Given the description of an element on the screen output the (x, y) to click on. 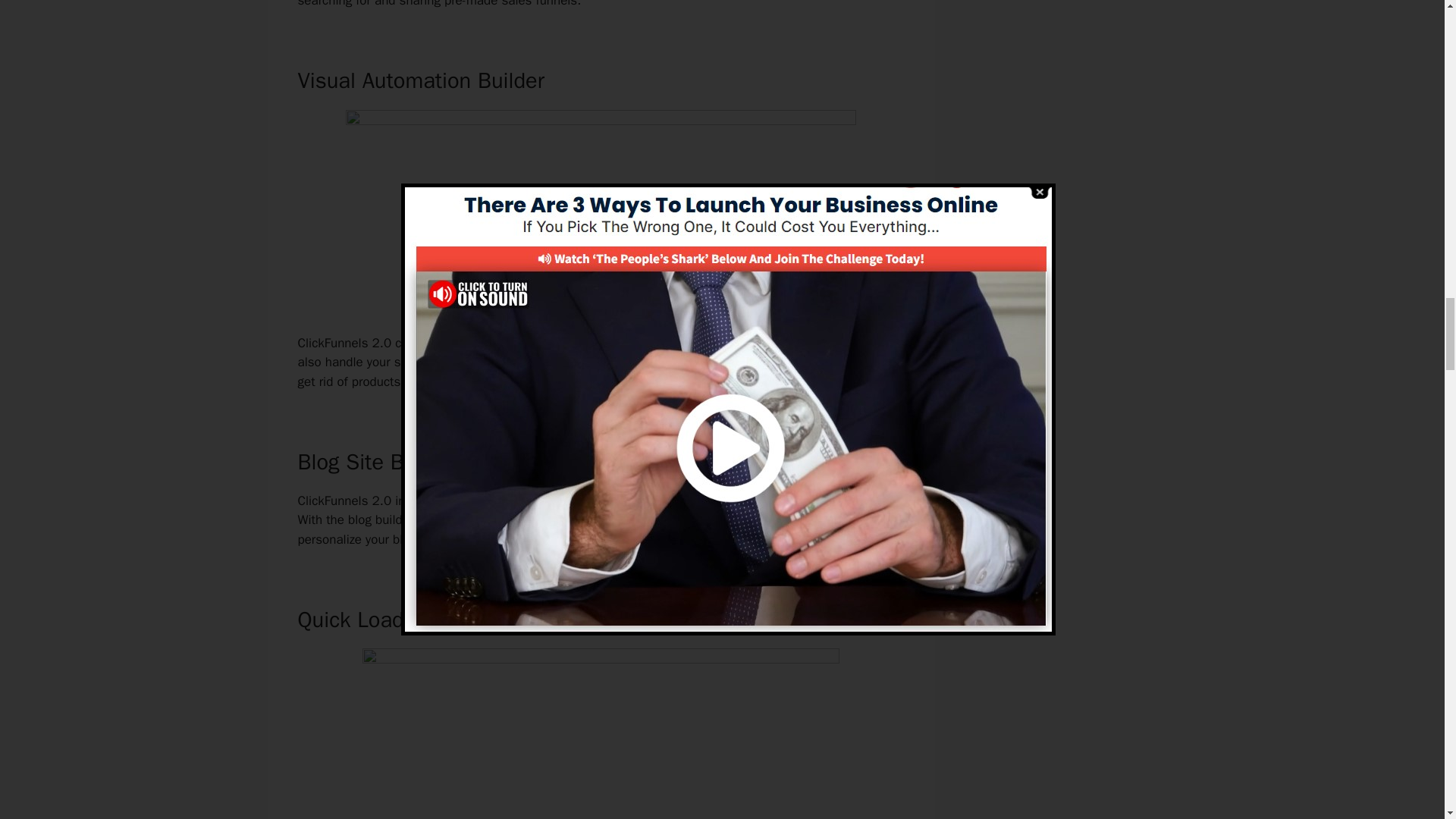
Start Here For Free Now (601, 291)
